Given the description of an element on the screen output the (x, y) to click on. 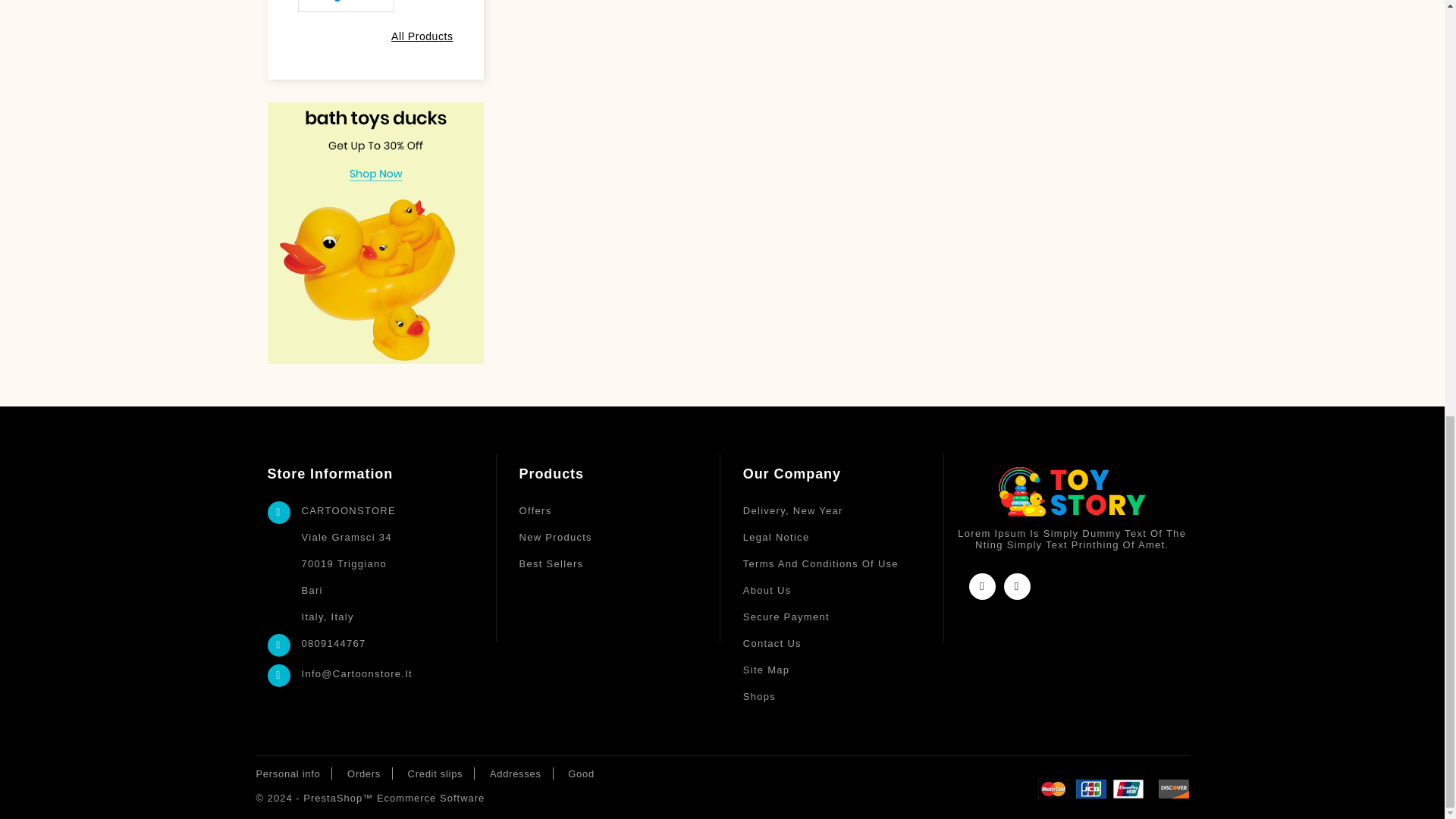
Personal info (288, 773)
Legal notice (842, 537)
All Products (421, 36)
bottom-logo (1071, 491)
Our special products (619, 510)
Our terms and conditions of use (842, 563)
Our terms and conditions of delivery (842, 510)
New Products (619, 537)
Learn more about us (842, 590)
AEILeftBanner 1 (374, 232)
Our secure payment method (842, 616)
You can use our form to contact us (842, 642)
Our best-selling products (619, 563)
Orders (363, 773)
Are you lost? Here you can find what you are looking for (842, 669)
